Given the description of an element on the screen output the (x, y) to click on. 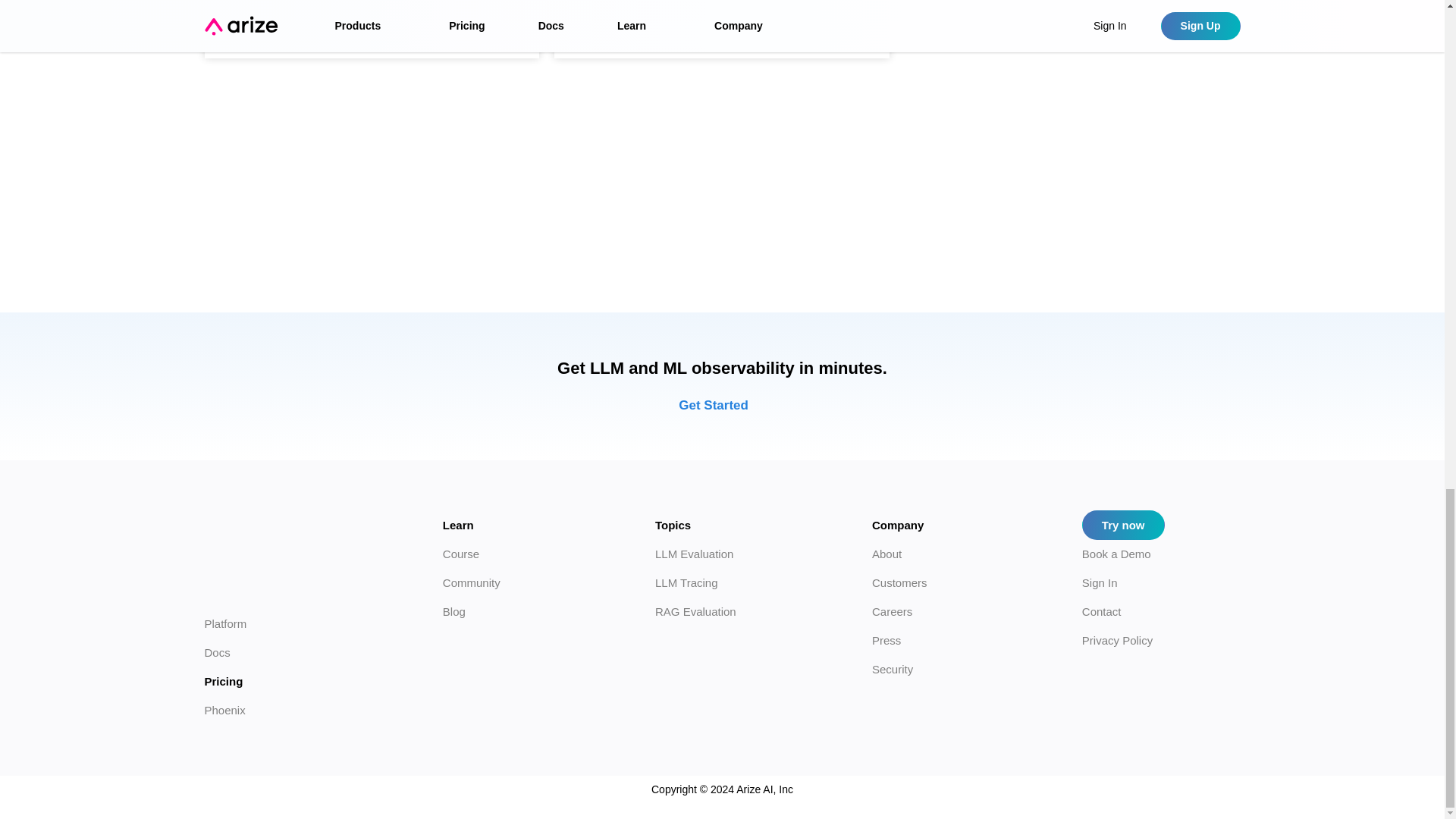
Phoenix (225, 709)
Get Started (721, 405)
Pricing (232, 680)
Platform (226, 623)
Docs (217, 652)
Course (460, 553)
